Given the description of an element on the screen output the (x, y) to click on. 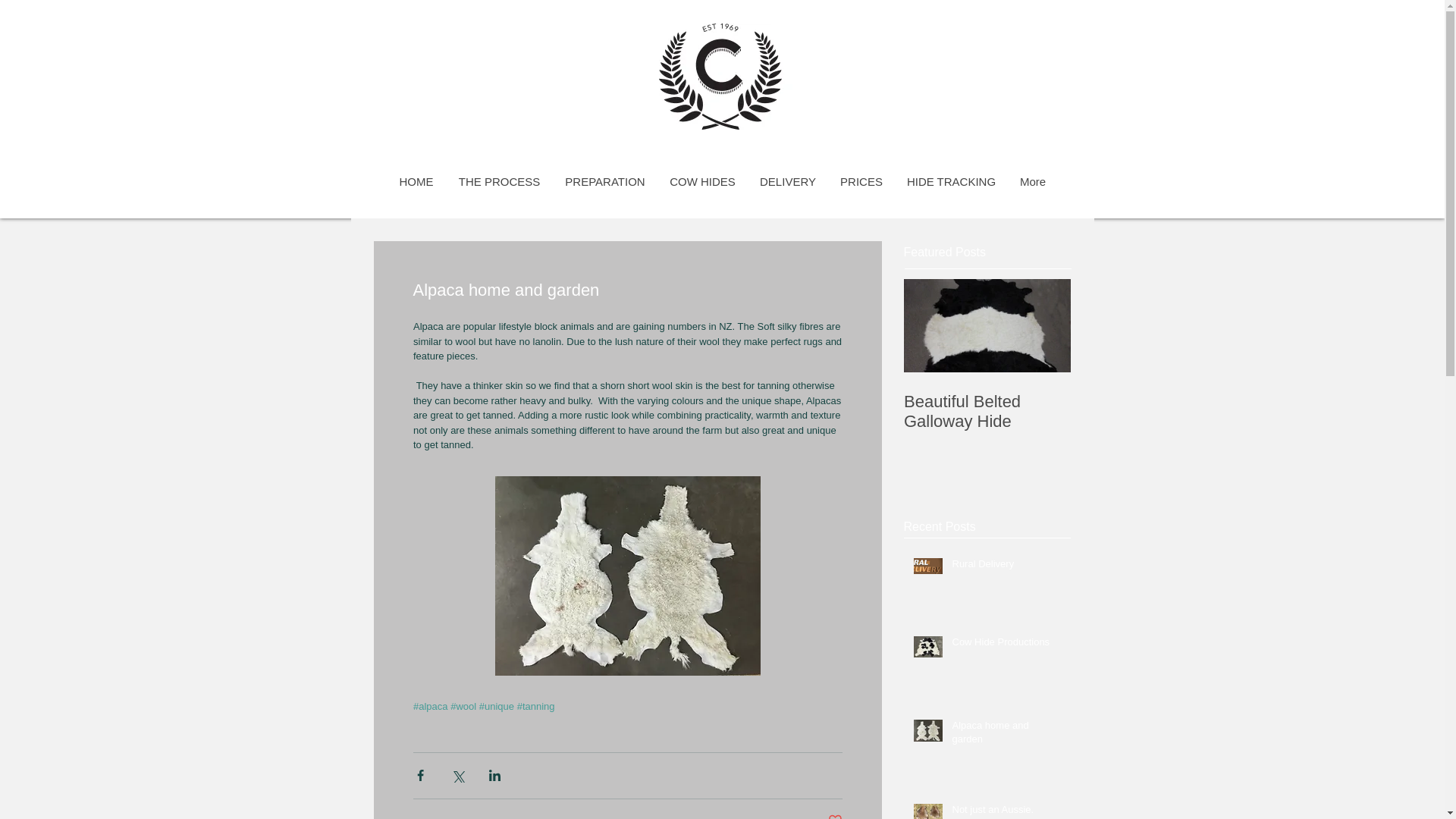
HOME (416, 181)
Alpaca home and garden (1006, 735)
Post not marked as liked (835, 816)
Not just an Aussie. (1006, 811)
COW HIDES (701, 181)
Cow Hide Productions (1006, 645)
HIDE TRACKING (951, 181)
PRICES (861, 181)
Rural Delivery (1006, 567)
DELIVERY (788, 181)
